Given the description of an element on the screen output the (x, y) to click on. 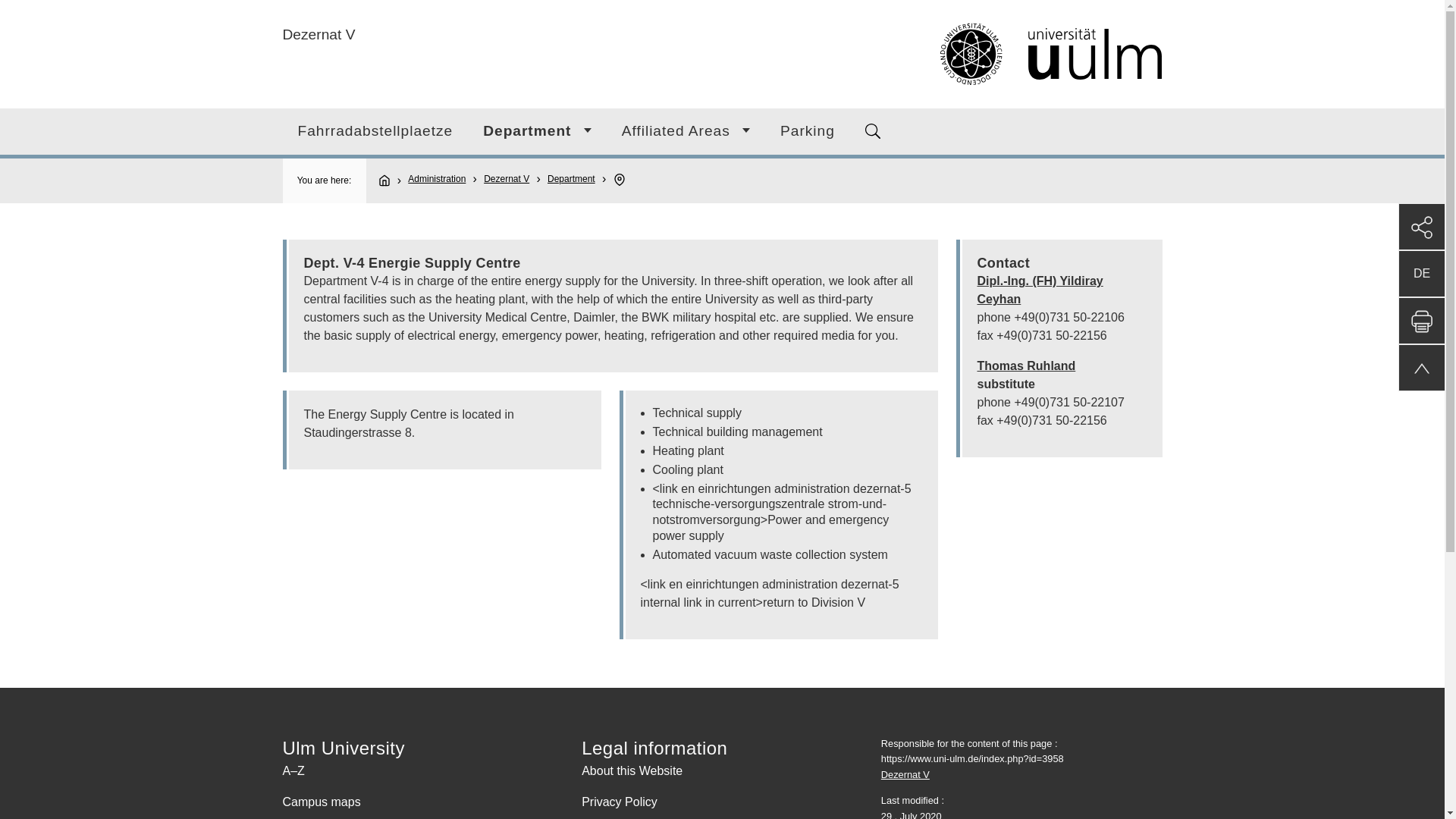
Dezernat V (318, 34)
Skip to main navigation (740, 5)
To top (1421, 367)
Home (945, 53)
Print this page (1421, 320)
Home (390, 180)
Zeige Seite auf Deutsch (1421, 273)
Share (1421, 226)
Search (872, 130)
Opens internal link in current window (1025, 365)
Fahrradabstellplaetze (374, 131)
